Given the description of an element on the screen output the (x, y) to click on. 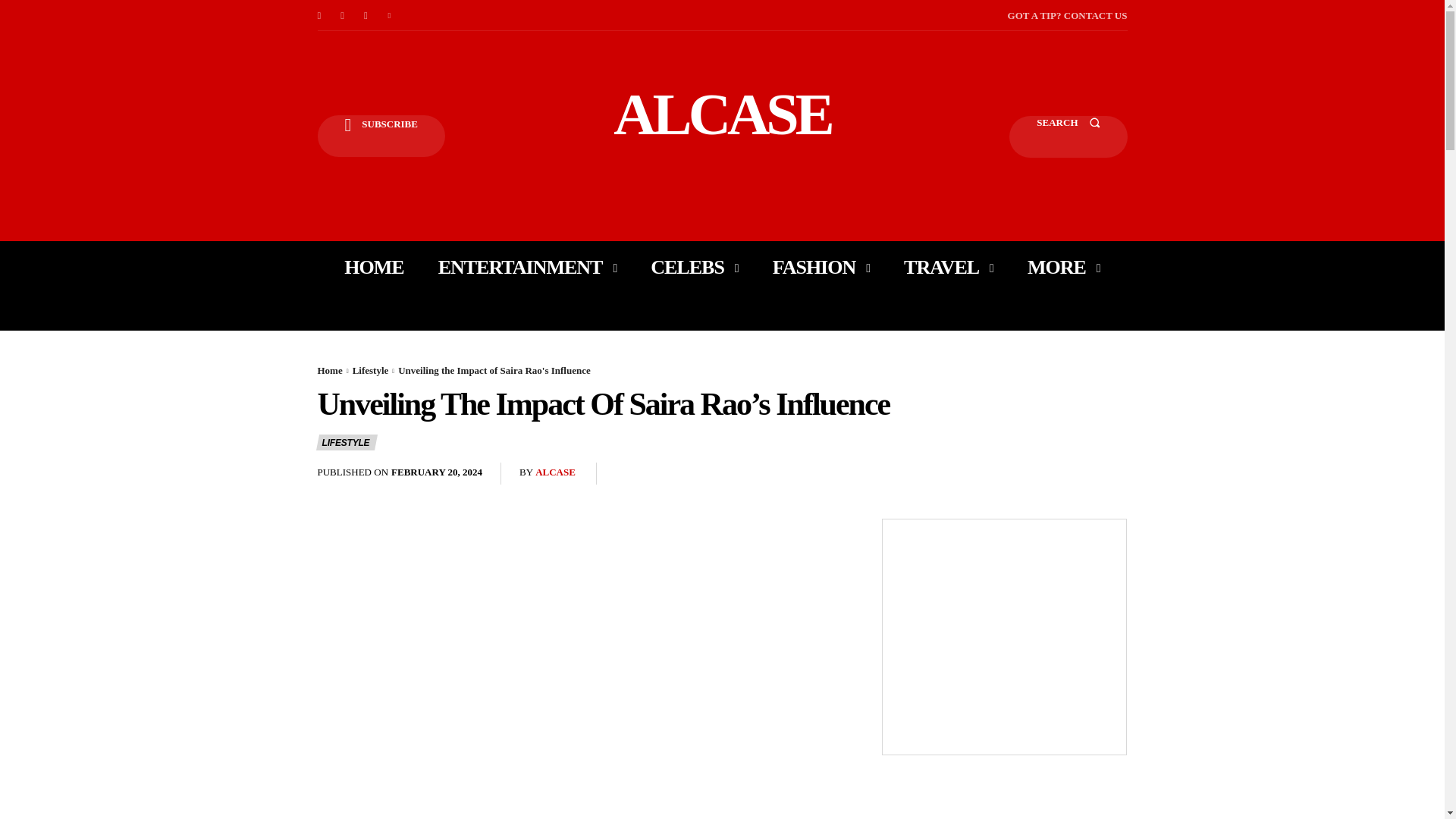
Twitter (389, 15)
SEARCH (1067, 137)
Facebook (318, 15)
ALCASE (722, 113)
Instagram (342, 15)
SUBSCRIBE (380, 136)
TikTok (366, 15)
GOT A TIP? CONTACT US (1066, 15)
